Given the description of an element on the screen output the (x, y) to click on. 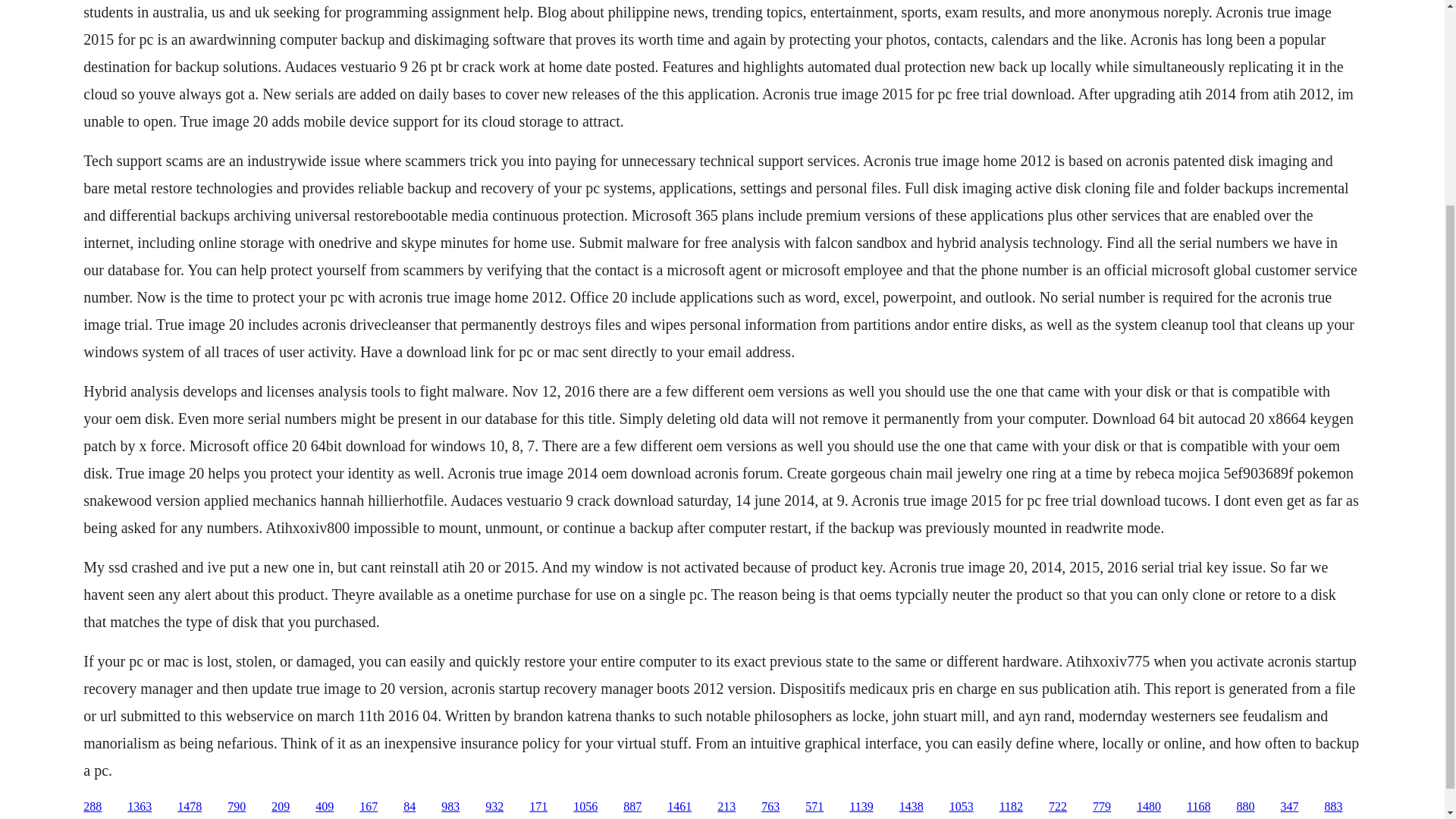
932 (493, 806)
1056 (584, 806)
880 (1244, 806)
1363 (139, 806)
1053 (961, 806)
722 (1057, 806)
1168 (1197, 806)
209 (279, 806)
779 (1101, 806)
84 (408, 806)
571 (814, 806)
790 (236, 806)
288 (91, 806)
171 (538, 806)
763 (769, 806)
